Given the description of an element on the screen output the (x, y) to click on. 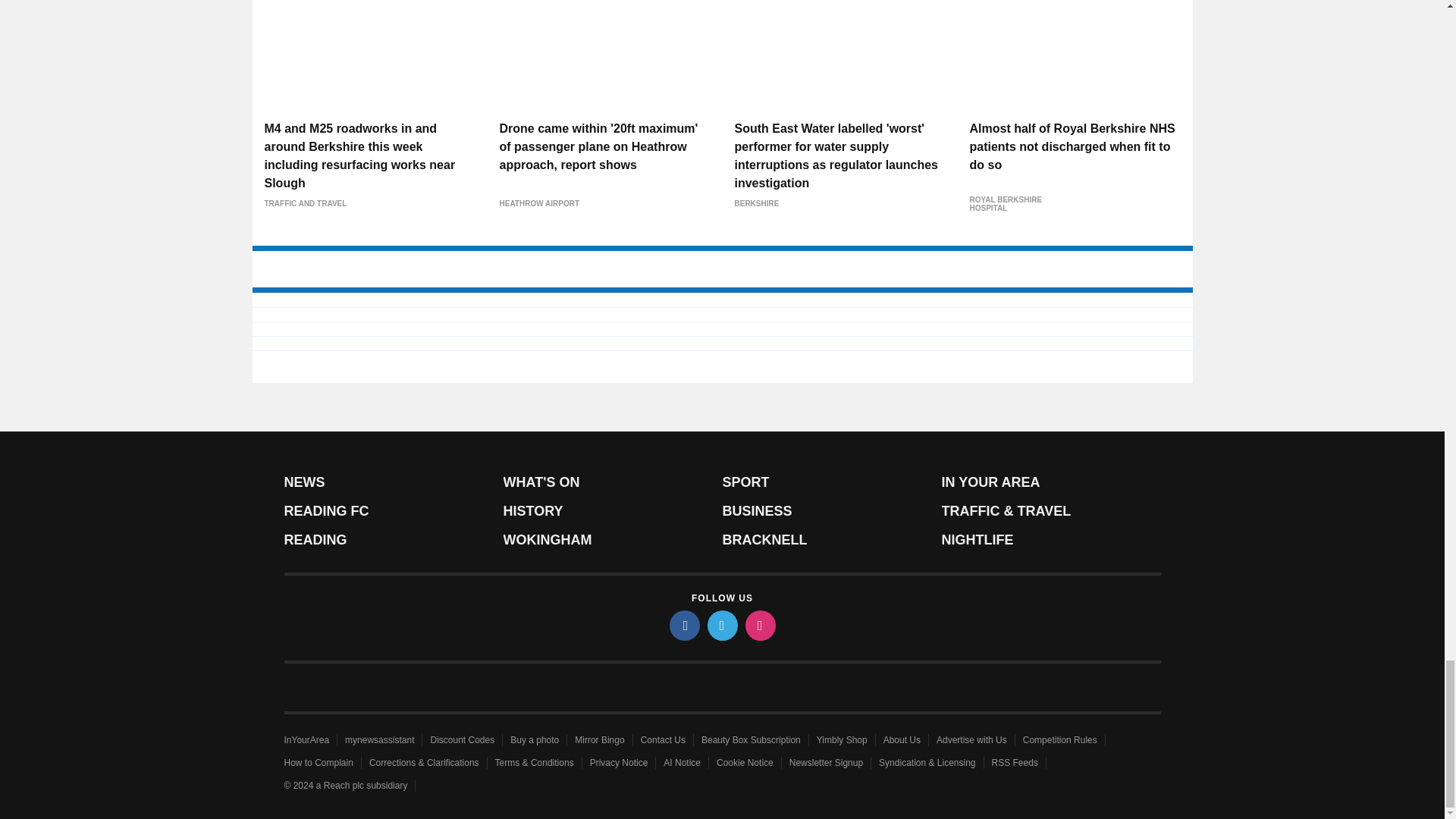
instagram (759, 625)
facebook (683, 625)
twitter (721, 625)
